Given the description of an element on the screen output the (x, y) to click on. 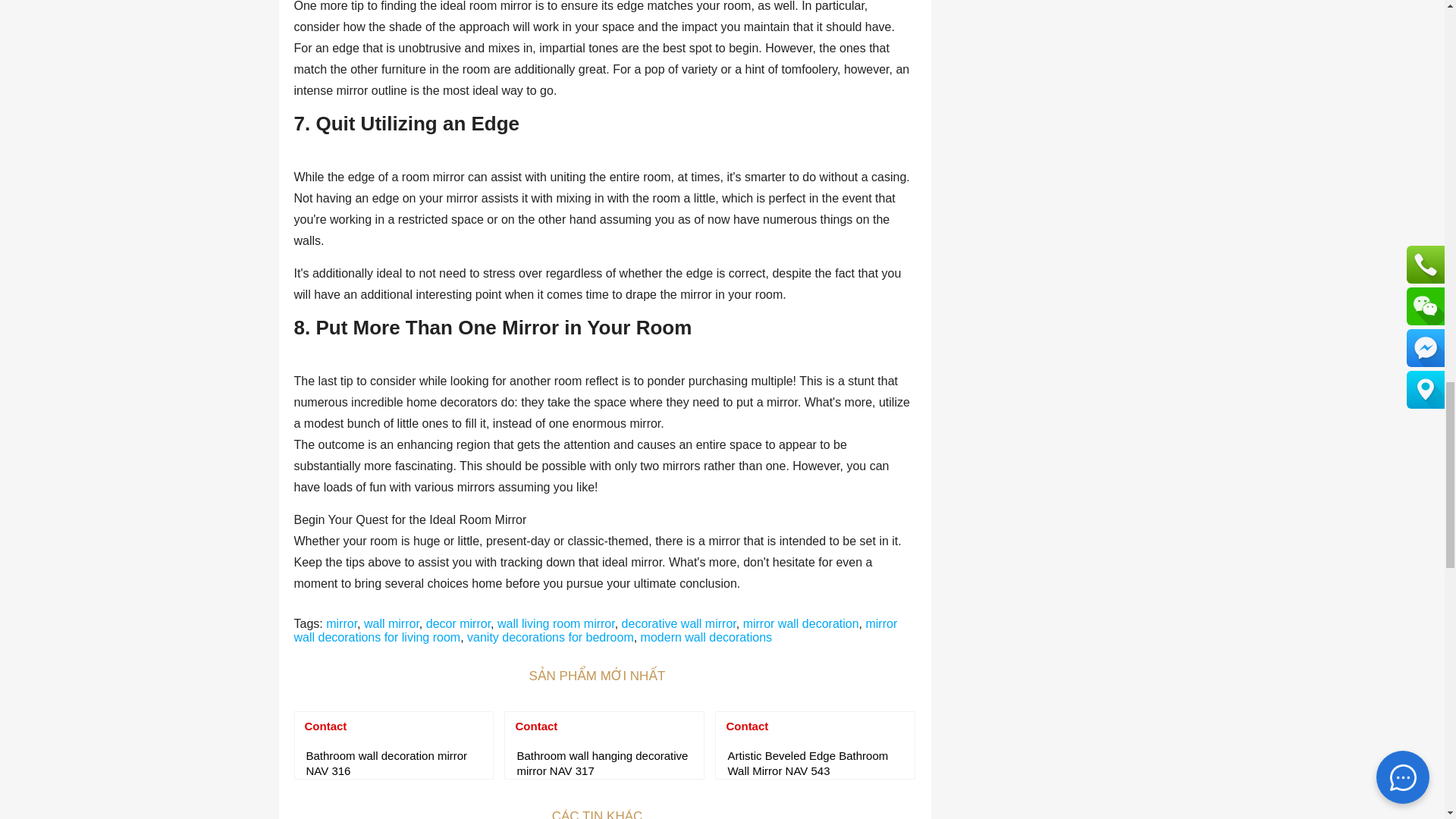
vanity decorations for bedroom (550, 636)
mirror wall decorations for living room (596, 630)
modern wall decorations (705, 636)
mirror (341, 623)
decorative wall mirror (678, 623)
decor mirror (458, 623)
Bathroom wall hanging decorative mirror NAV 317 (604, 763)
wall living room mirror (555, 623)
Bathroom wall decoration mirror NAV 316 (393, 763)
wall mirror (391, 623)
